Given the description of an element on the screen output the (x, y) to click on. 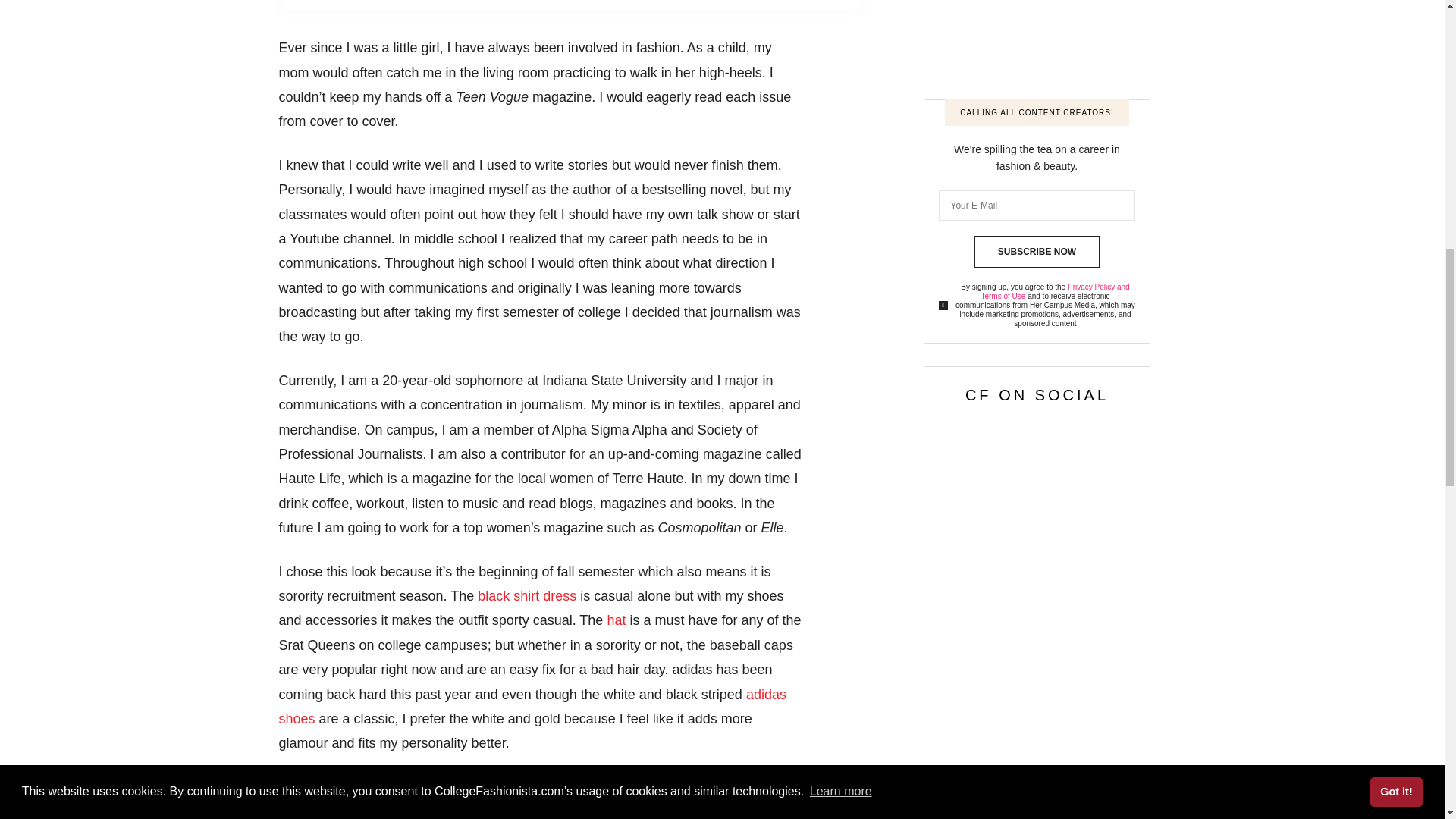
black shirt dress (526, 595)
STYLE GURU BIO: Cheyenne Harris 1 (571, 6)
adidas shoes (532, 706)
hat (616, 620)
